Given the description of an element on the screen output the (x, y) to click on. 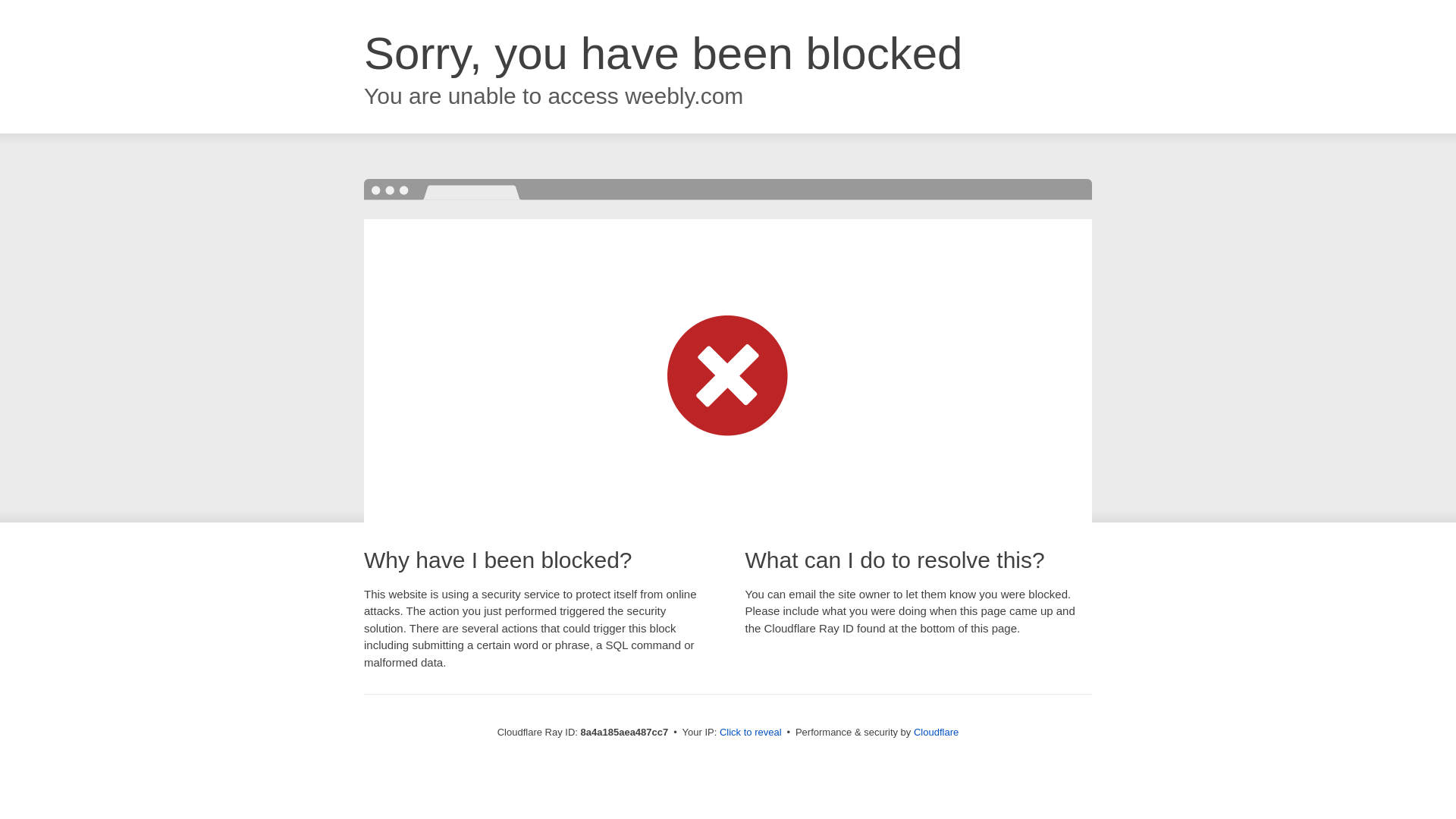
Cloudflare (936, 731)
Click to reveal (750, 732)
